Given the description of an element on the screen output the (x, y) to click on. 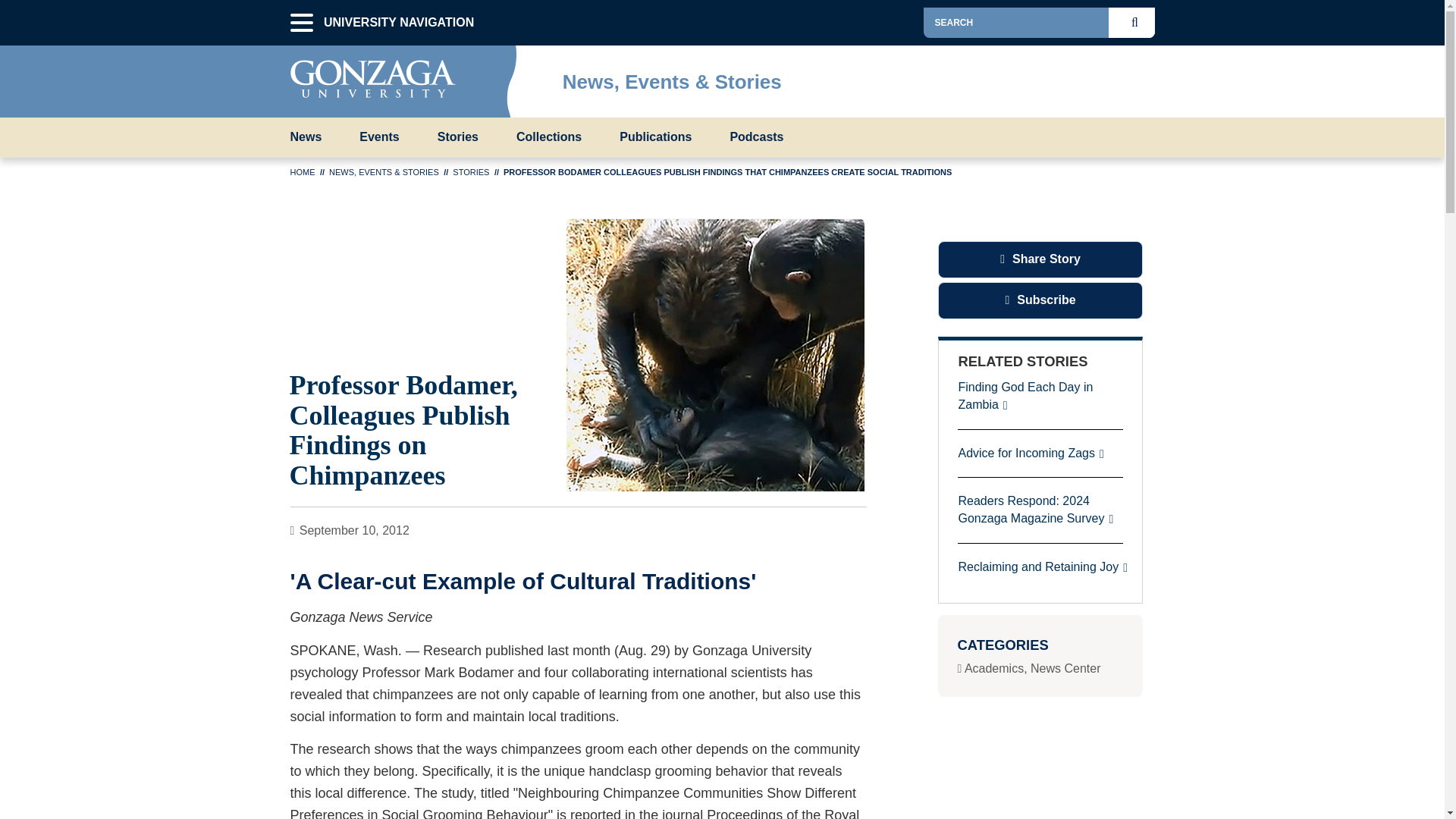
SEARCH BUTTON (1137, 22)
UNIVERSITY NAVIGATION (301, 22)
Toggle Menu (1142, 77)
